Given the description of an element on the screen output the (x, y) to click on. 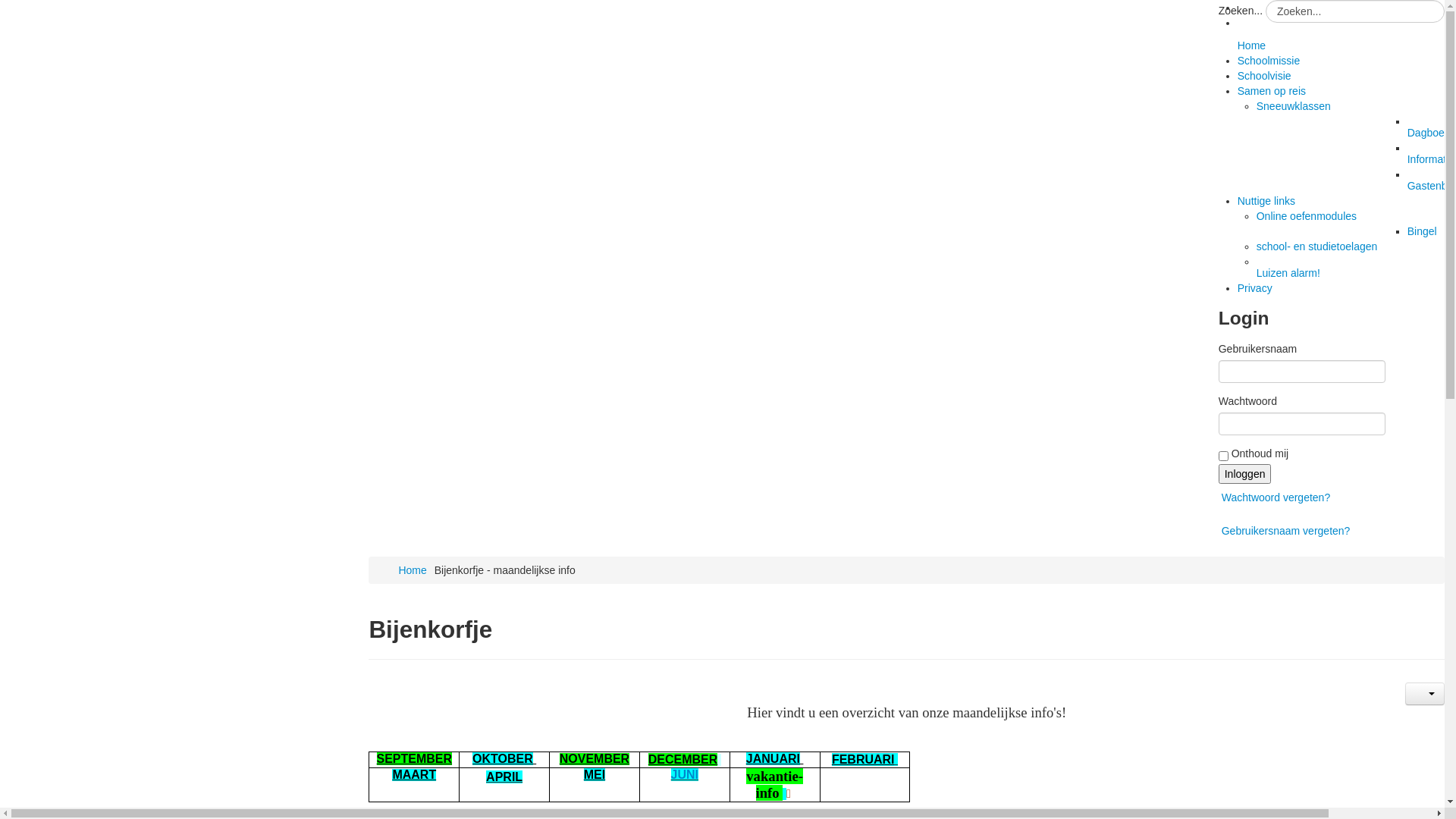
school- en studietoelagen Element type: text (1316, 246)
Home Element type: text (1340, 52)
SEPTEMBER Element type: text (413, 759)
APRIL Element type: text (504, 776)
JUNI Element type: text (684, 774)
Home Element type: text (412, 570)
MAART Element type: text (414, 774)
MEI Element type: text (594, 774)
Wachtwoord vergeten? Element type: text (1275, 497)
Bingel Element type: text (1422, 231)
Online oefenmodules Element type: text (1306, 216)
U bevindt zich hier:  Element type: hover (388, 569)
Schoolvisie Element type: text (1264, 75)
vakantie-info   Element type: text (774, 785)
Schoolmissie Element type: text (1268, 60)
FEBRUARI Element type: text (862, 759)
Gebruikersnaam vergeten? Element type: text (1285, 530)
Inloggen Element type: text (1244, 473)
Samen op reis Element type: text (1271, 90)
Luizen alarm! Element type: text (1332, 274)
Sneeuwklassen Element type: text (1293, 106)
JANUARI Element type: text (773, 758)
Nuttige links Element type: text (1266, 200)
NOVEMBER Element type: text (594, 759)
DECEMBER Element type: text (683, 759)
Privacy Element type: text (1254, 288)
OKTOBER Element type: text (502, 758)
